Given the description of an element on the screen output the (x, y) to click on. 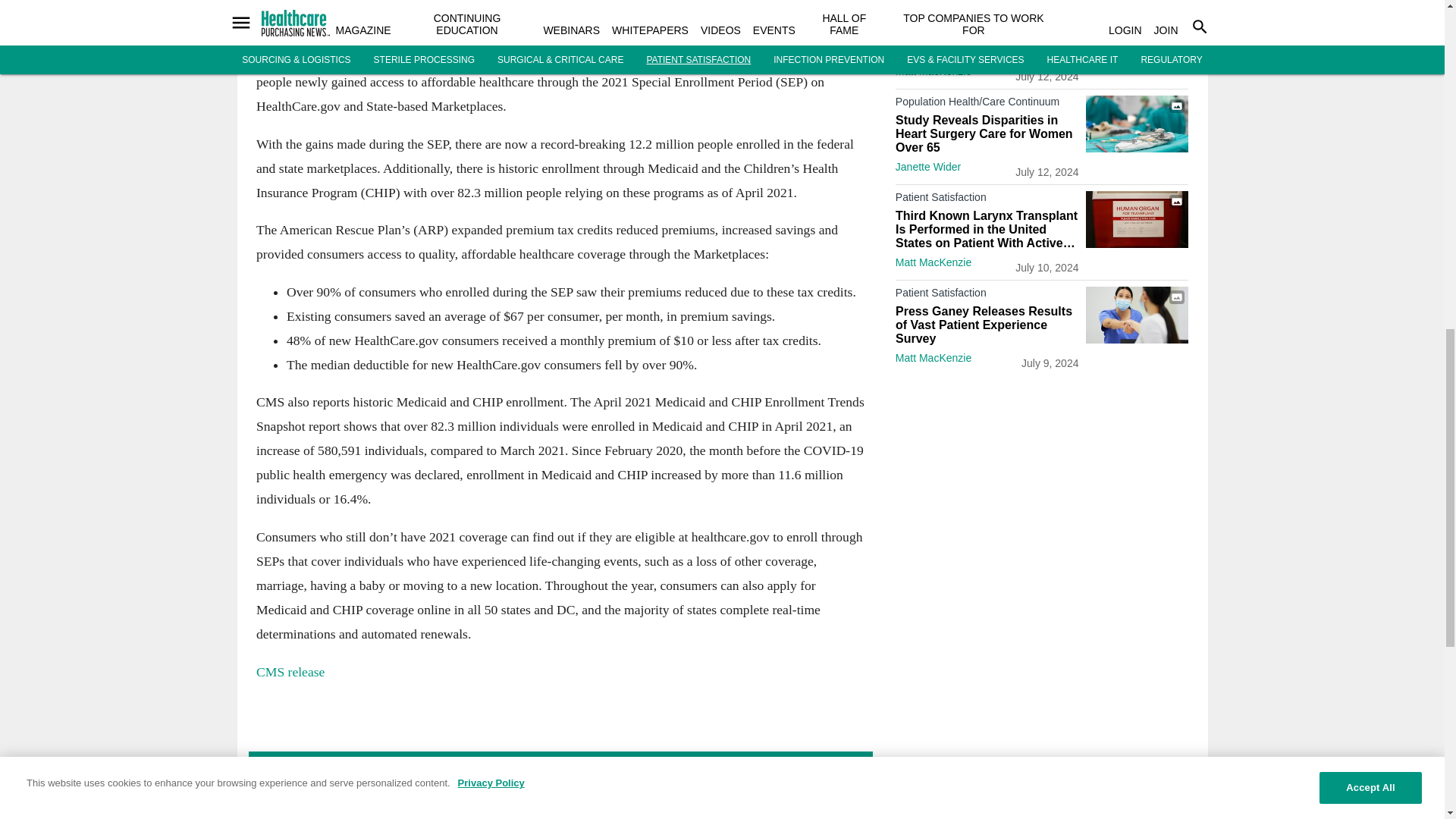
Online Marketing H Igeo Qj S I E Unsplash 1 6144b1878d30a (560, 9)
3rd party ad content (1042, 601)
